Given the description of an element on the screen output the (x, y) to click on. 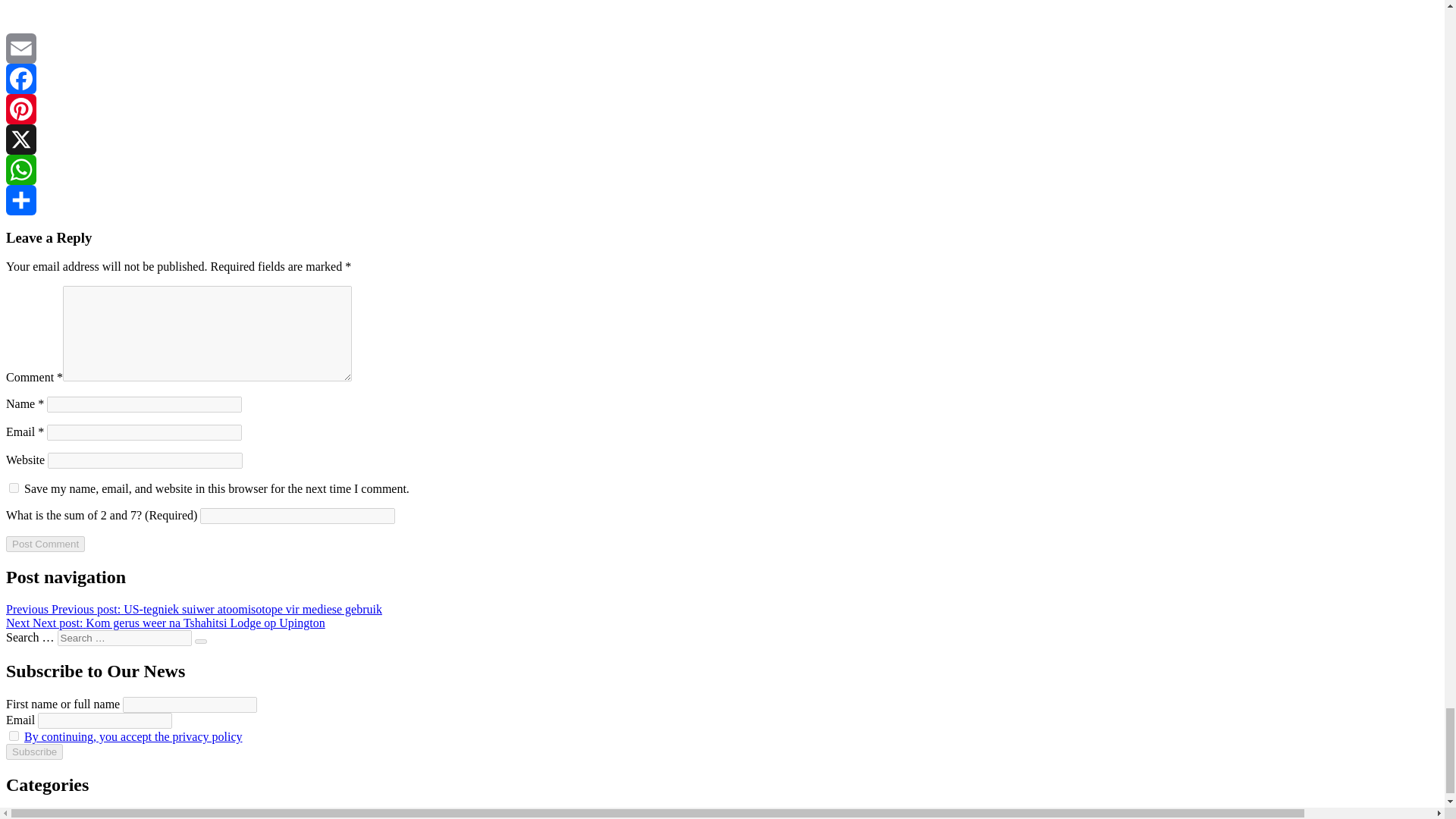
Post Comment (44, 544)
yes (13, 488)
on (13, 736)
Subscribe (33, 751)
